Given the description of an element on the screen output the (x, y) to click on. 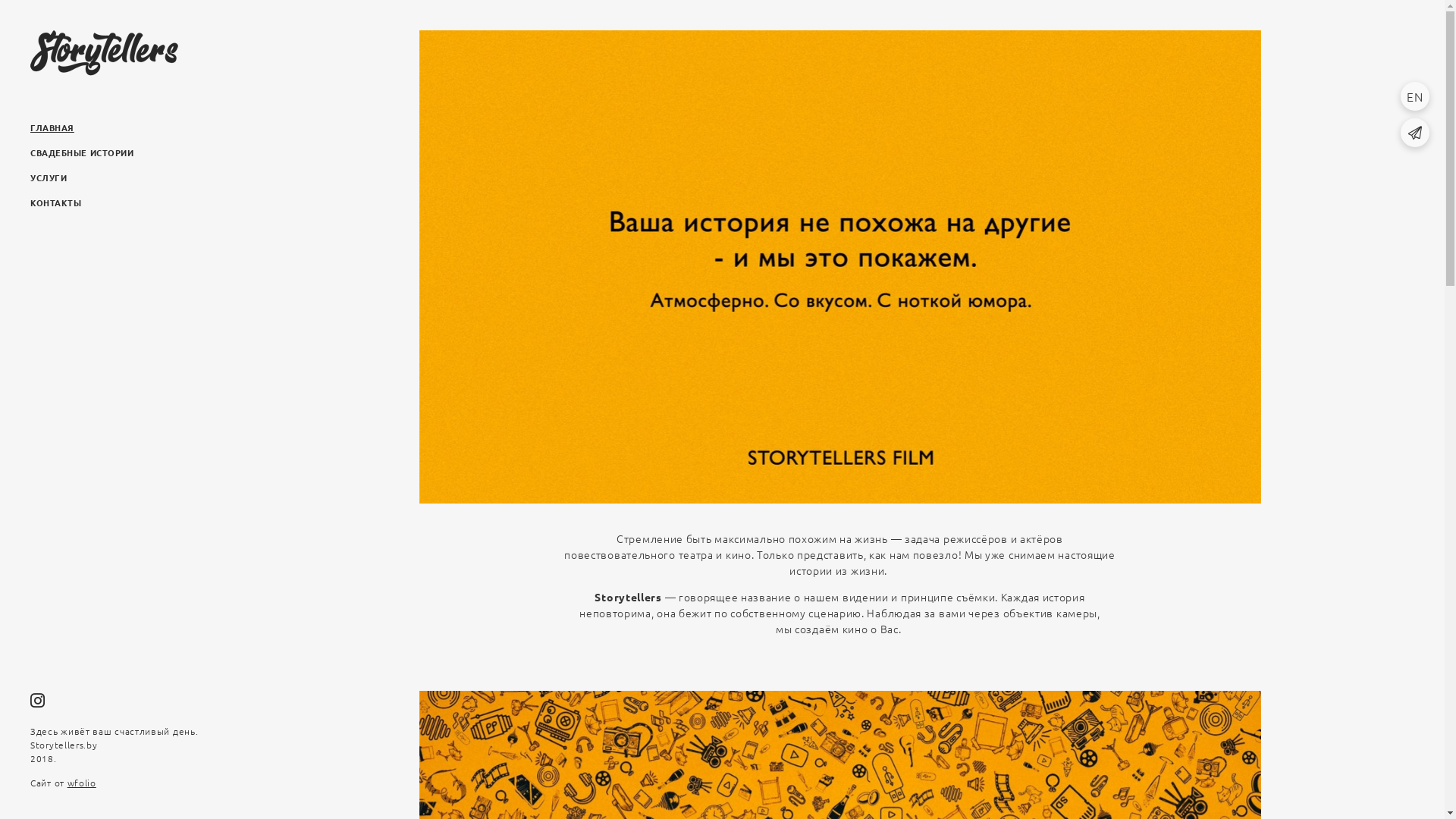
https://www.instagram.com/storytellers_film/?hl=ru Element type: hover (37, 699)
wfolio Element type: text (81, 782)
EN Element type: text (1414, 95)
